Given the description of an element on the screen output the (x, y) to click on. 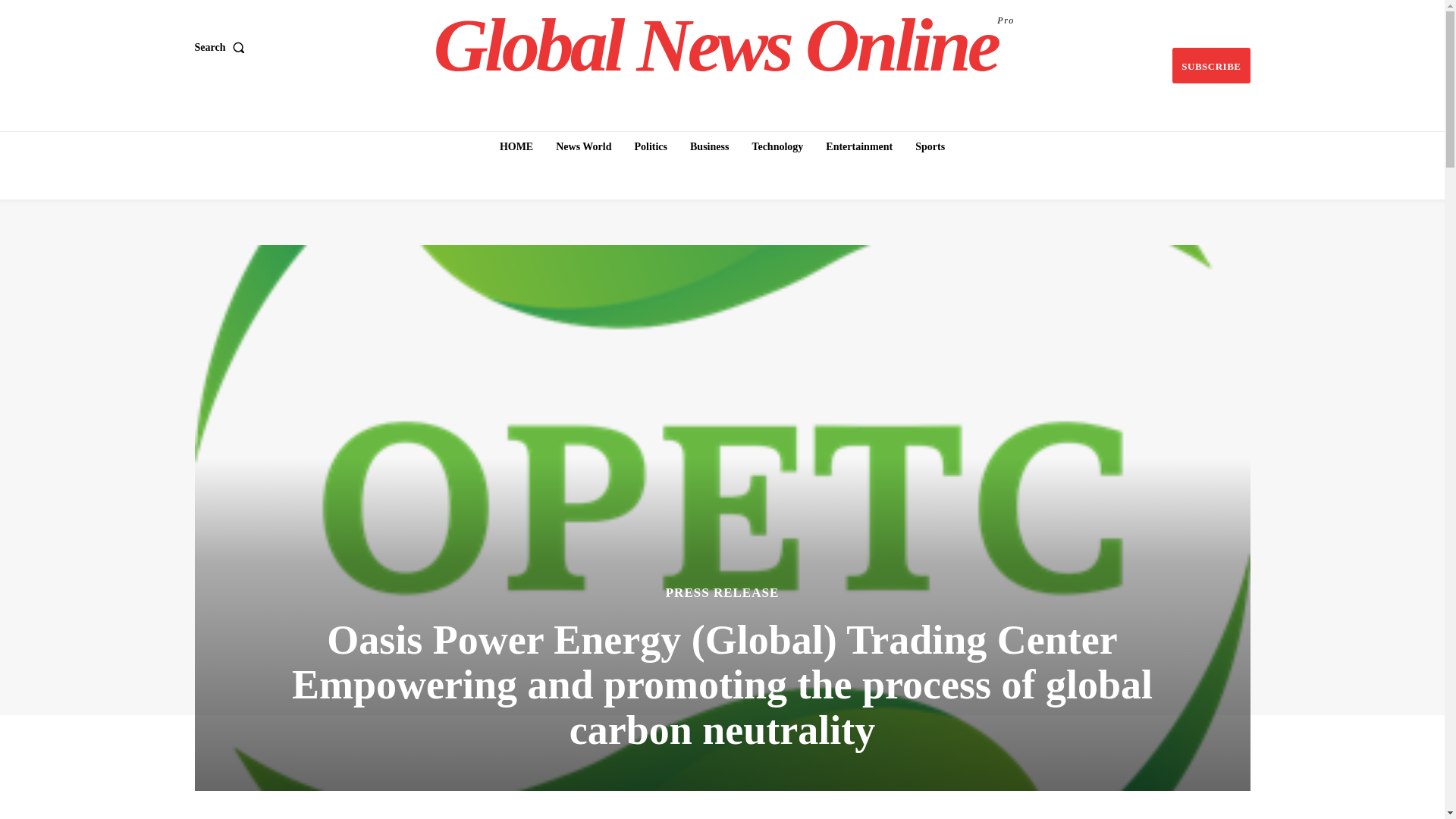
Entertainment (858, 146)
Search (221, 47)
News World (583, 146)
Sports (929, 146)
SUBSCRIBE (1210, 65)
Subscribe (1210, 65)
HOME (516, 146)
Politics (724, 45)
PRESS RELEASE (650, 146)
